Given the description of an element on the screen output the (x, y) to click on. 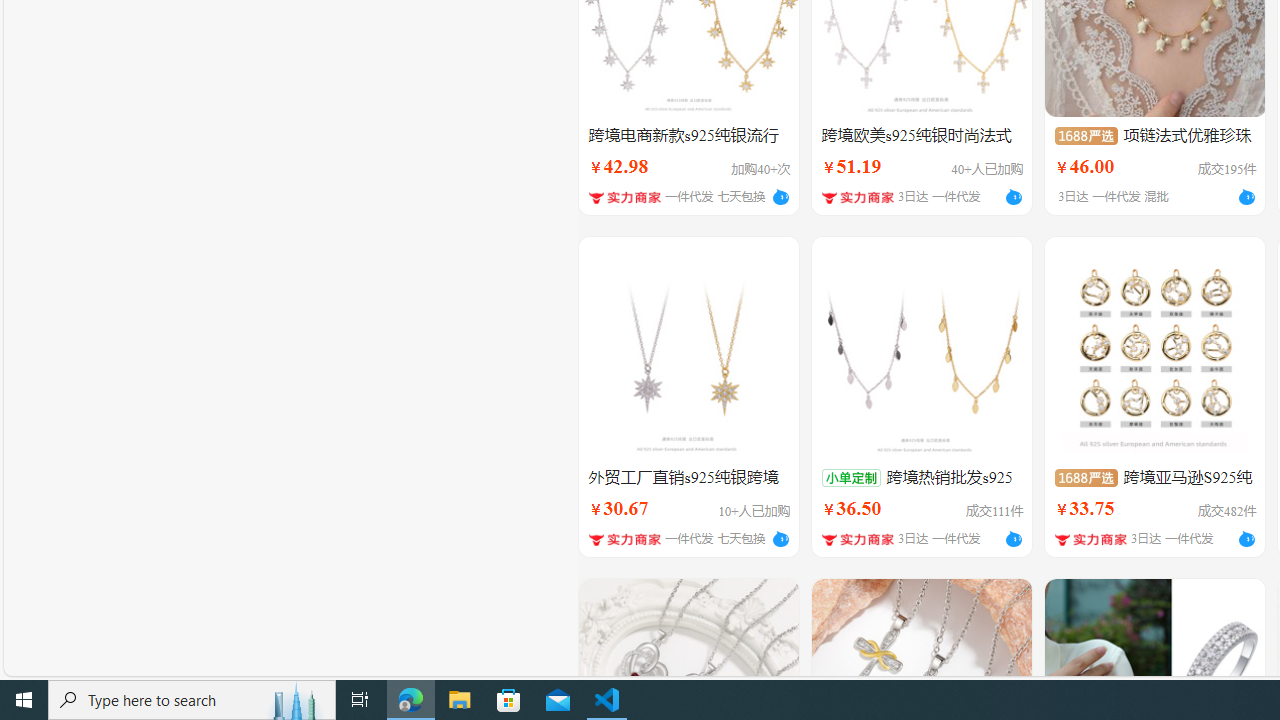
Class: shop-icon h14 (1090, 539)
Class: icon (1085, 477)
